Given the description of an element on the screen output the (x, y) to click on. 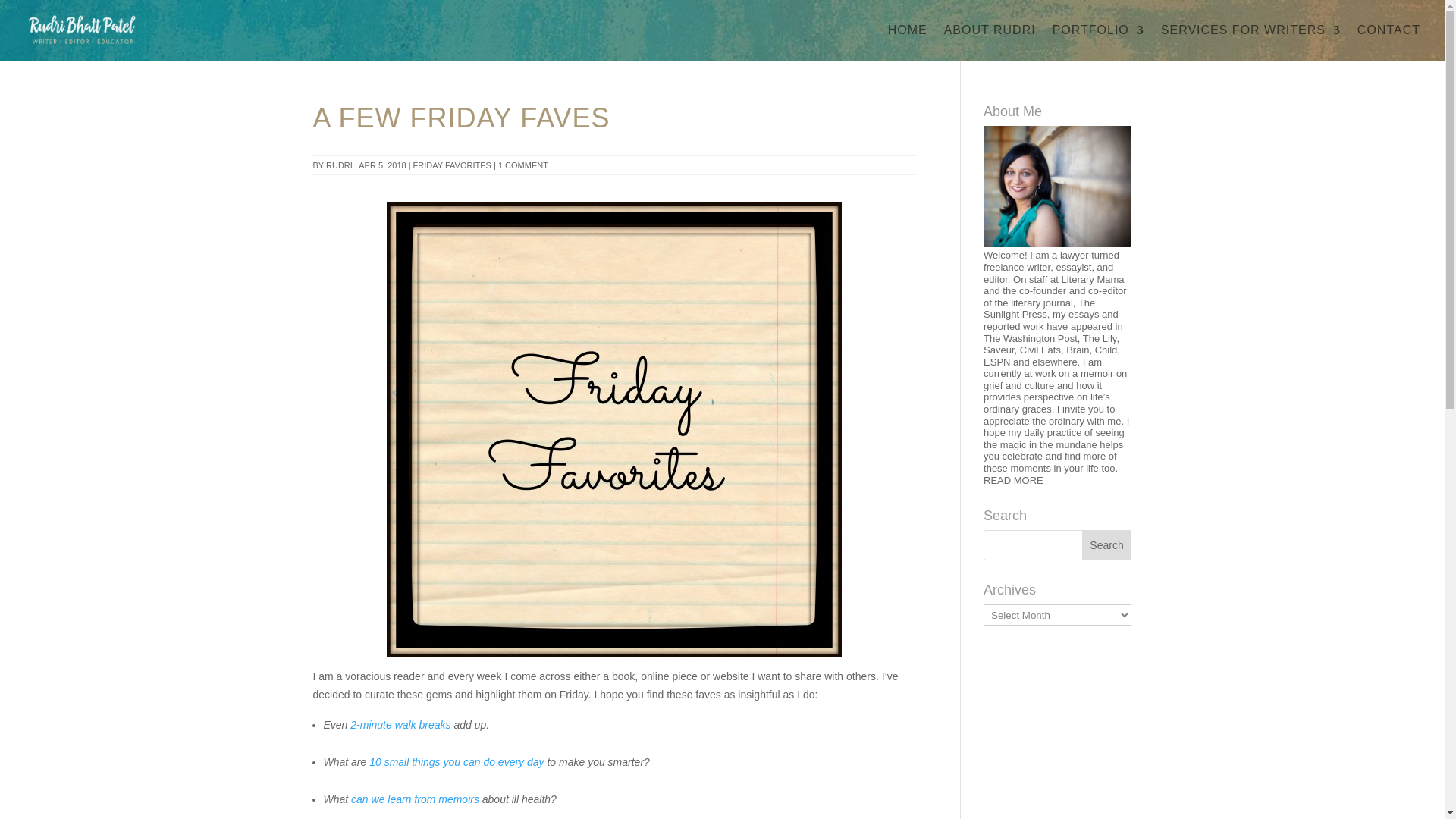
CONTACT (1388, 42)
HOME (907, 42)
Search (1106, 544)
Search (1106, 544)
RUDRI (339, 164)
Posts by Rudri (339, 164)
10 small things you can do every day (456, 761)
1 COMMENT (522, 164)
PORTFOLIO (1098, 42)
2-minute walk breaks (399, 725)
SERVICES FOR WRITERS (1250, 42)
ABOUT RUDRI (989, 42)
READ MORE (1013, 480)
can we learn from memoirs (414, 799)
FRIDAY FAVORITES (452, 164)
